Given the description of an element on the screen output the (x, y) to click on. 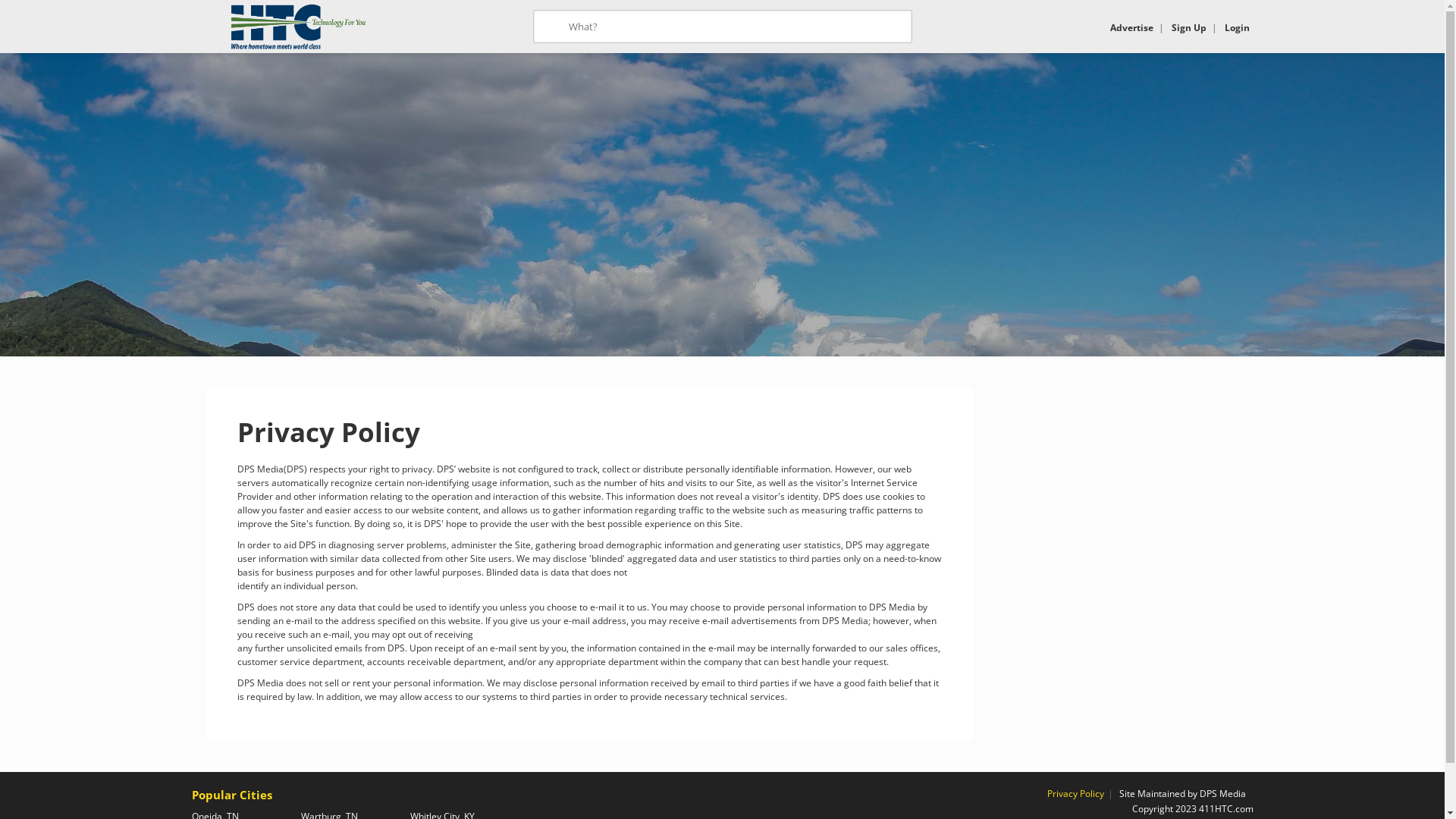
Sign Up Element type: text (1187, 27)
Login Element type: text (1235, 27)
Privacy Policy Element type: text (1074, 793)
Advertise Element type: text (1131, 27)
